Given the description of an element on the screen output the (x, y) to click on. 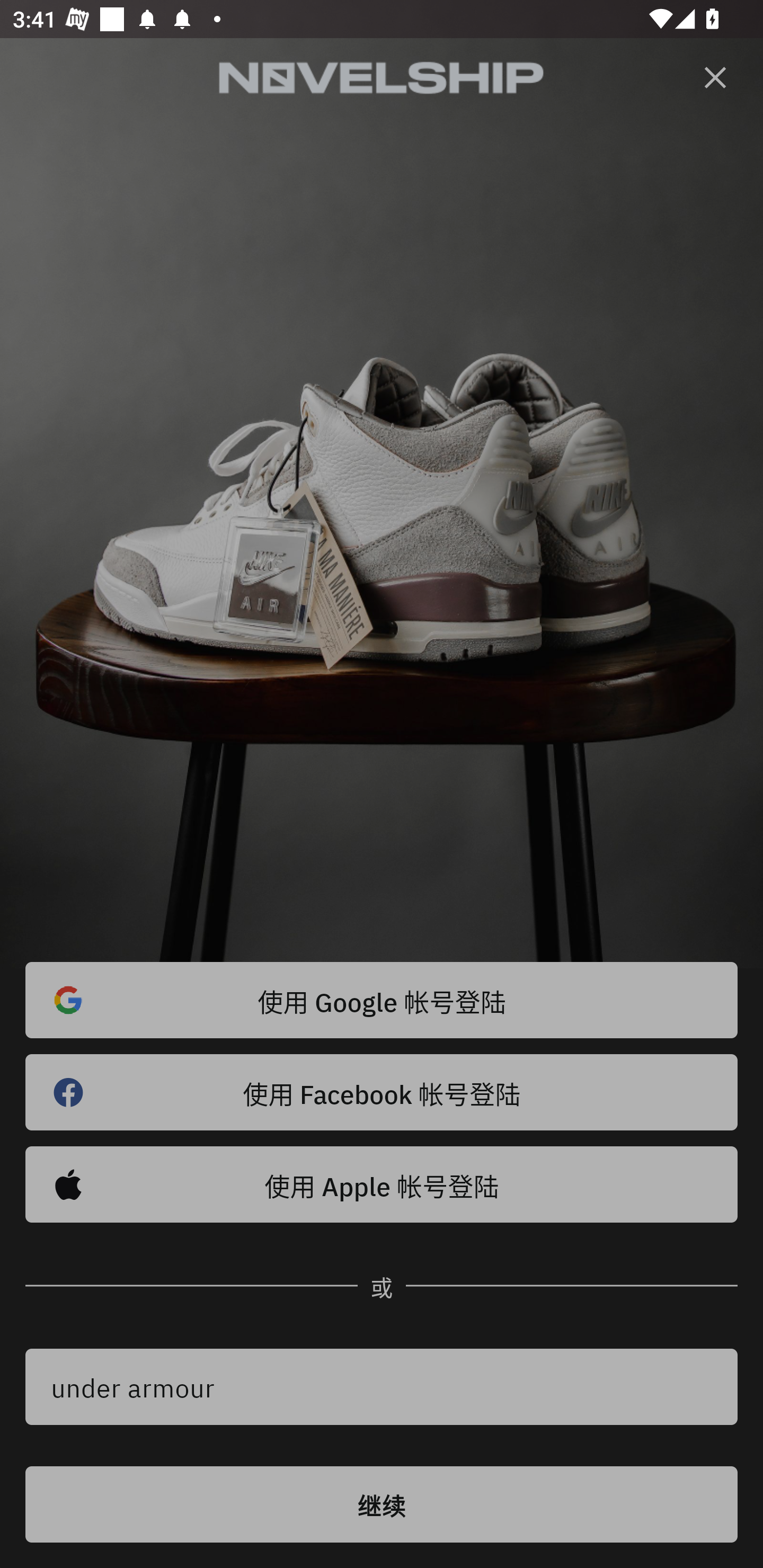
使用 Google 帐号登陆 (381, 1000)
使用 Facebook 帐号登陆 󰈌 (381, 1091)
 使用 Apple 帐号登陆 (381, 1184)
under armour (381, 1386)
继续 (381, 1504)
